Given the description of an element on the screen output the (x, y) to click on. 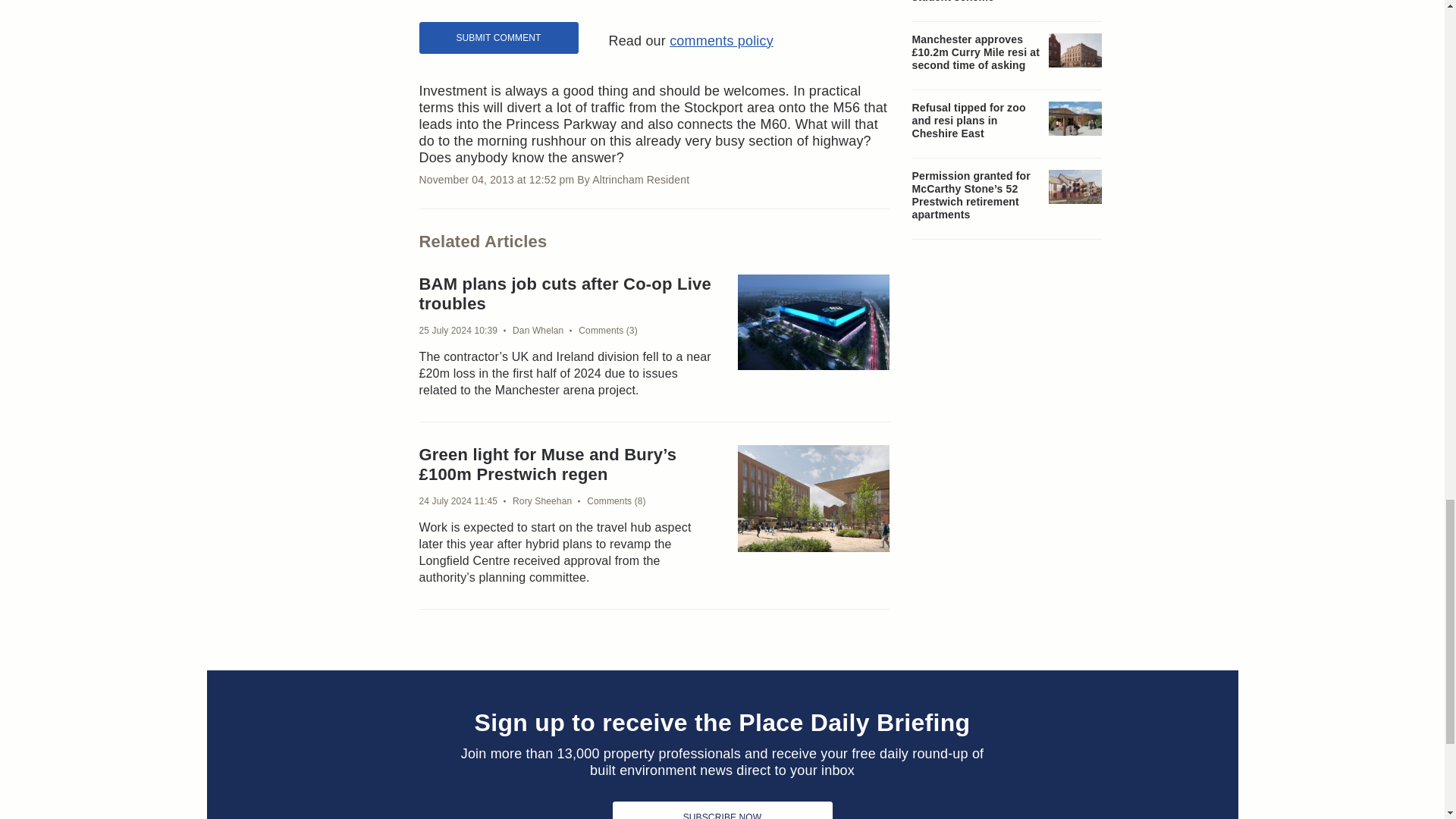
Submit Comment (498, 38)
